Given the description of an element on the screen output the (x, y) to click on. 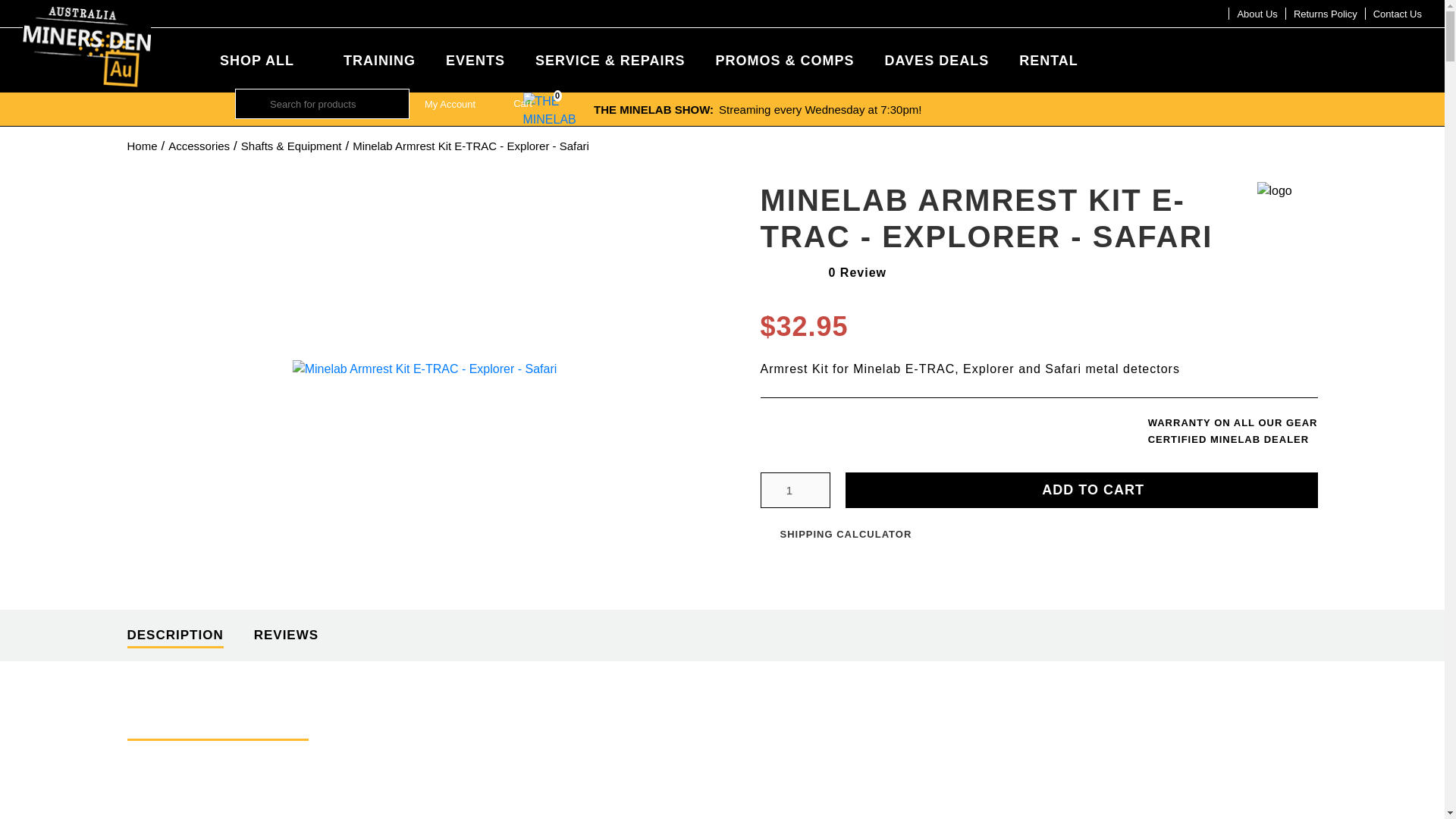
Add Minelab Armrest Kit E-TRAC - Explorer - Safari to Cart (1080, 489)
Contact Us (1397, 13)
1 (794, 489)
Returns Policy (721, 109)
About Us (1325, 13)
